Given the description of an element on the screen output the (x, y) to click on. 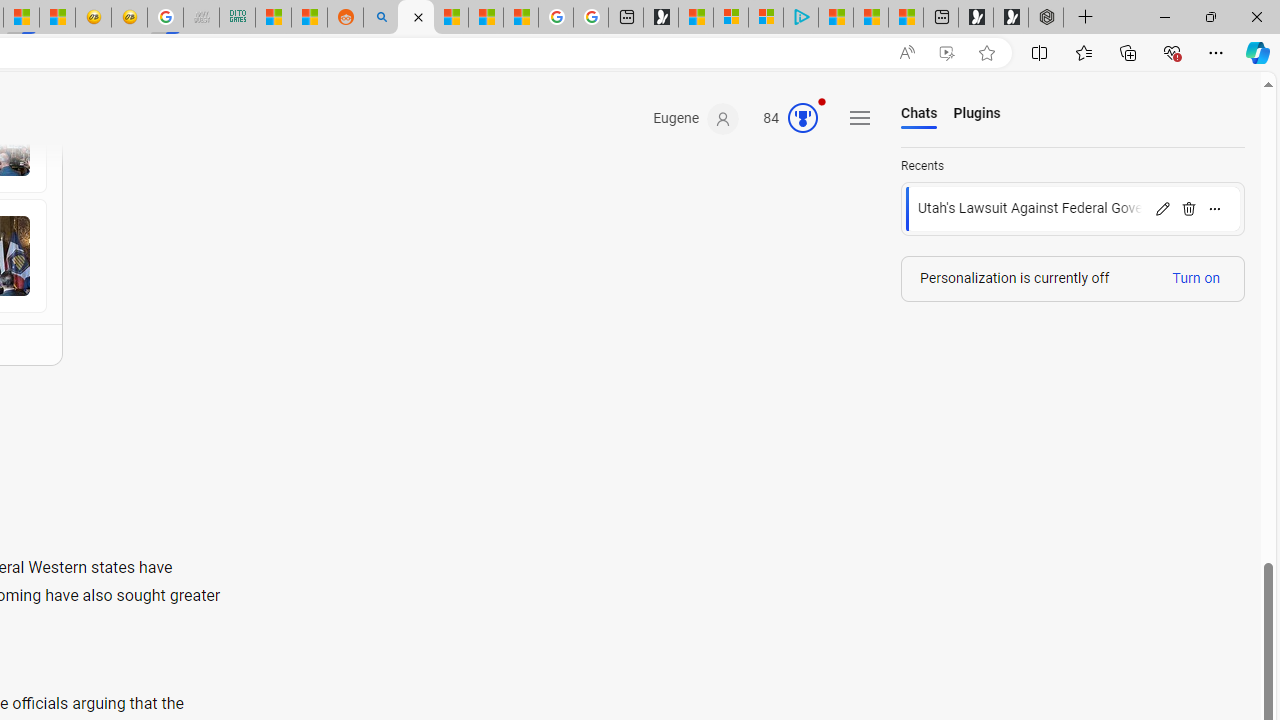
Rename (1162, 208)
Load chat (1073, 209)
Chats (919, 113)
Plugins (976, 113)
Microsoft Rewards 84 (783, 119)
